Given the description of an element on the screen output the (x, y) to click on. 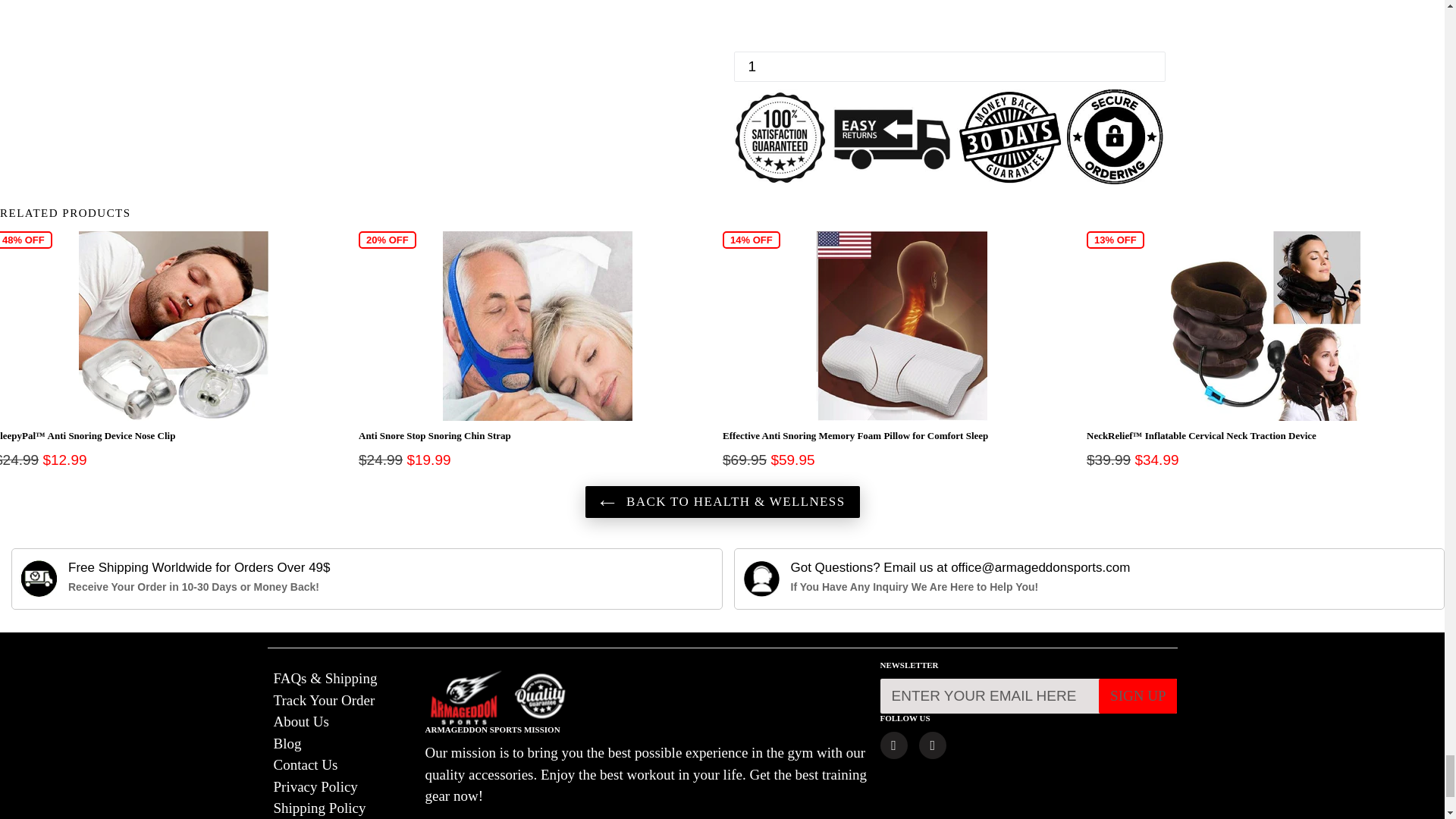
1 (949, 66)
Armageddon Sports on Instagram (932, 745)
SIGN UP (1137, 696)
Armageddon Sports on Facebook (893, 745)
